Given the description of an element on the screen output the (x, y) to click on. 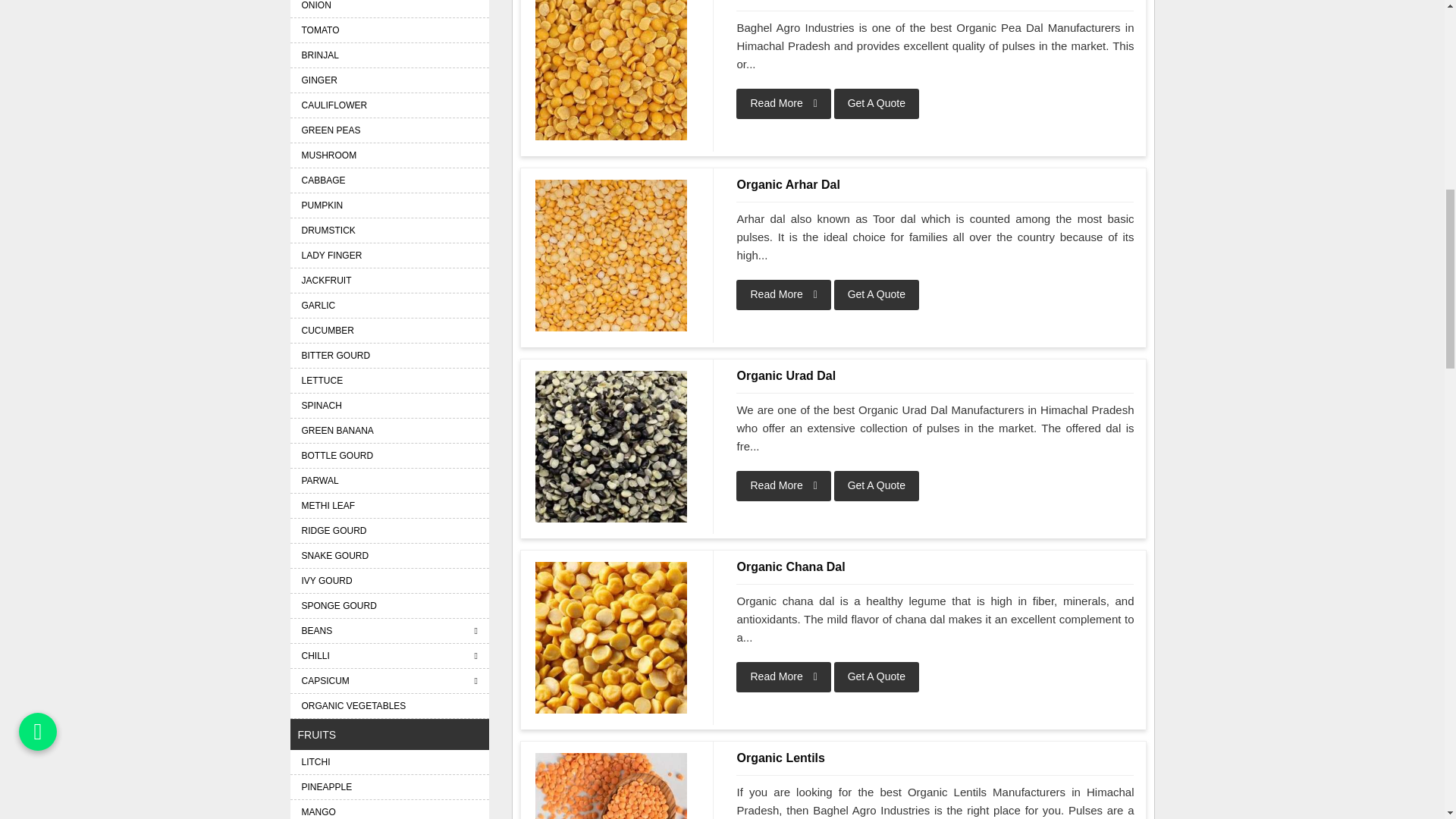
Organic Lentils (935, 758)
Organic Arhar Dal (935, 185)
Get A Quote (876, 485)
Organic Arhar Dal (611, 255)
 Organic Pea Dal Manufacturers in Himachal Pradesh (611, 70)
Read More (782, 295)
Read More (782, 103)
Organic Urad Dal (935, 375)
